Given the description of an element on the screen output the (x, y) to click on. 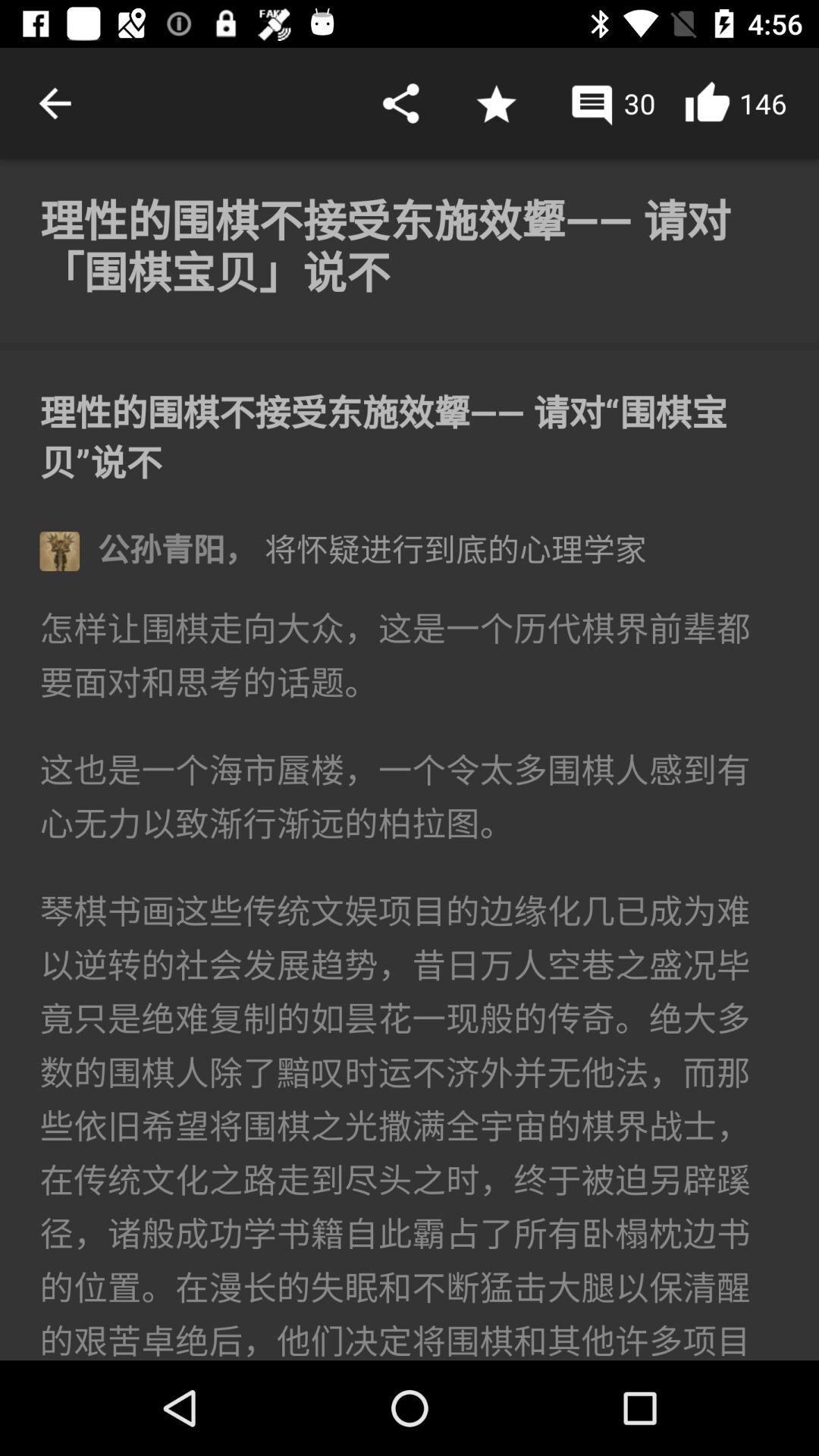
article in middle (409, 759)
